Given the description of an element on the screen output the (x, y) to click on. 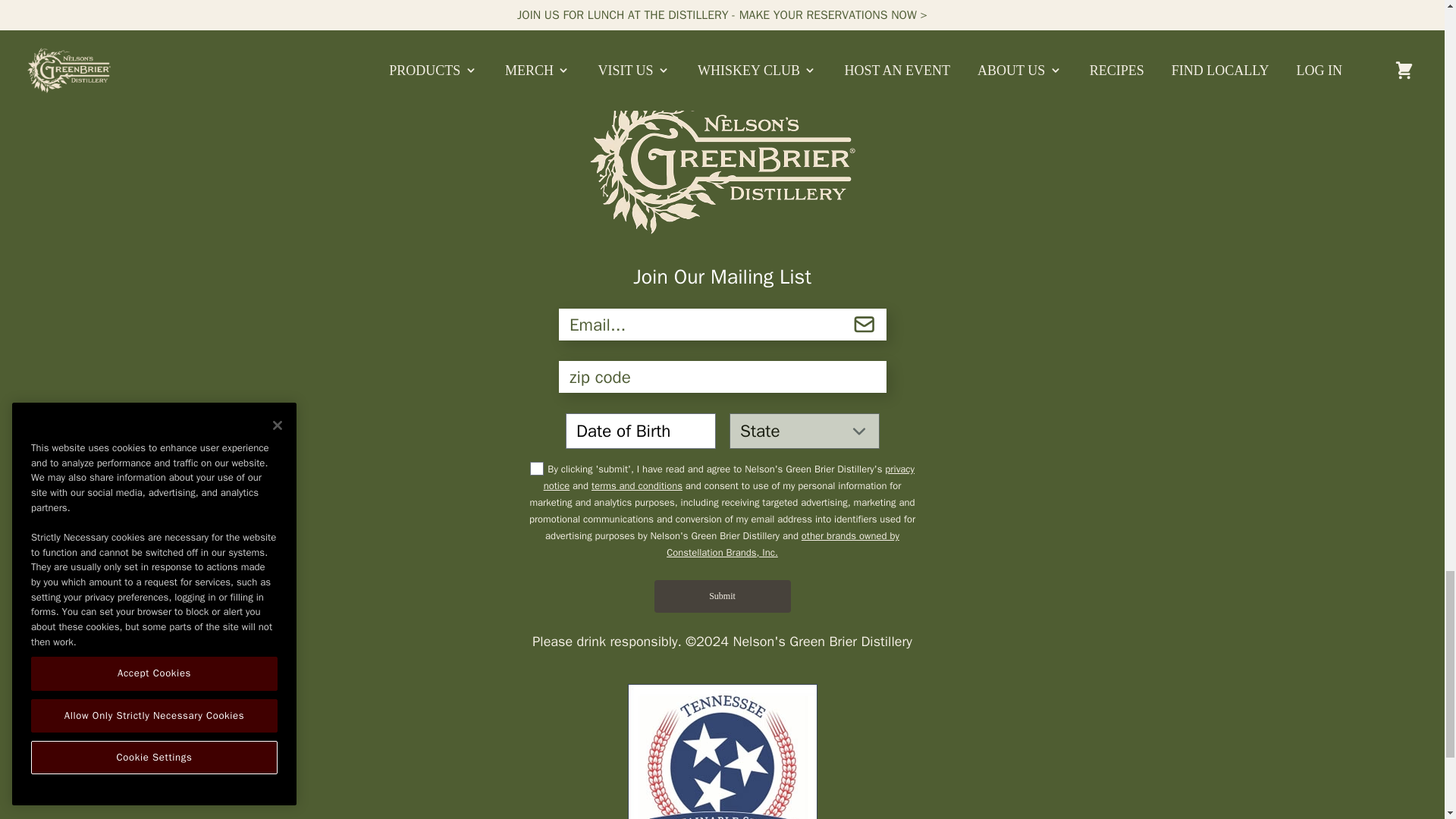
Pinterest (769, 31)
accepted (536, 468)
Instagram (674, 31)
Facebook (721, 31)
